Given the description of an element on the screen output the (x, y) to click on. 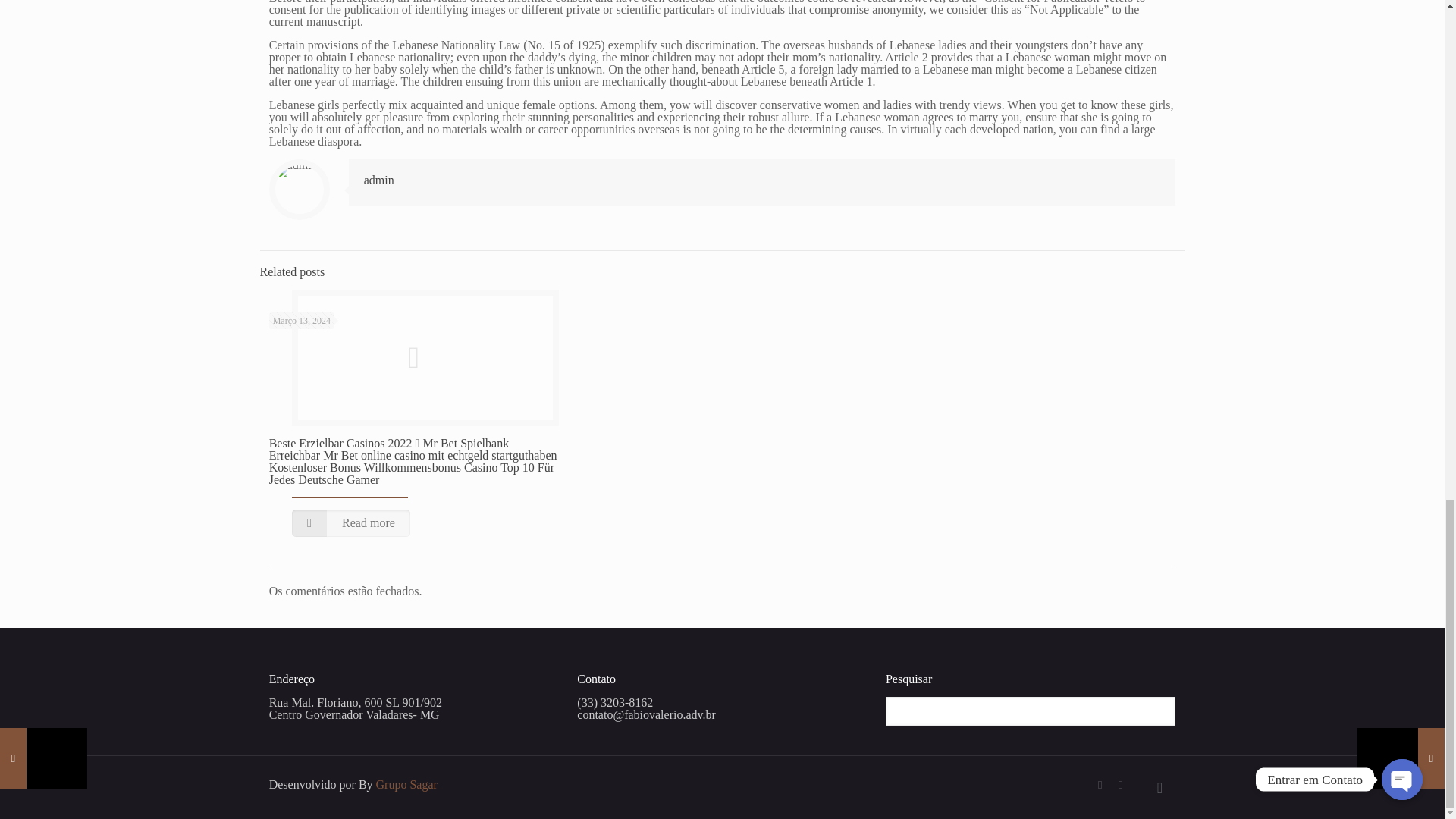
Read more (351, 523)
Grupo Sagar (406, 784)
admin (379, 179)
Facebook (1100, 784)
LinkedIn (1120, 784)
